Given the description of an element on the screen output the (x, y) to click on. 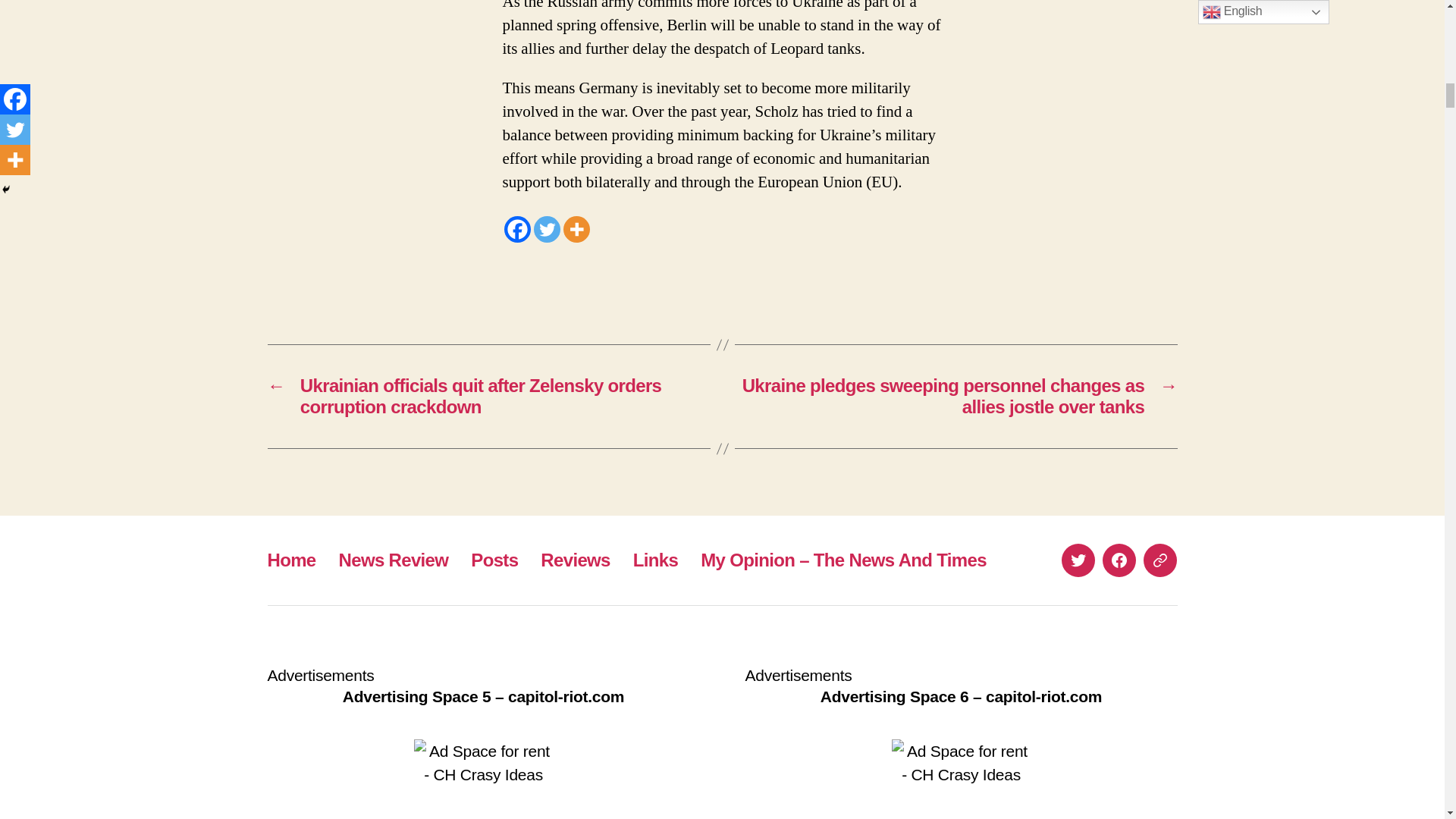
Facebook (516, 229)
Twitter (547, 229)
More (575, 229)
